Given the description of an element on the screen output the (x, y) to click on. 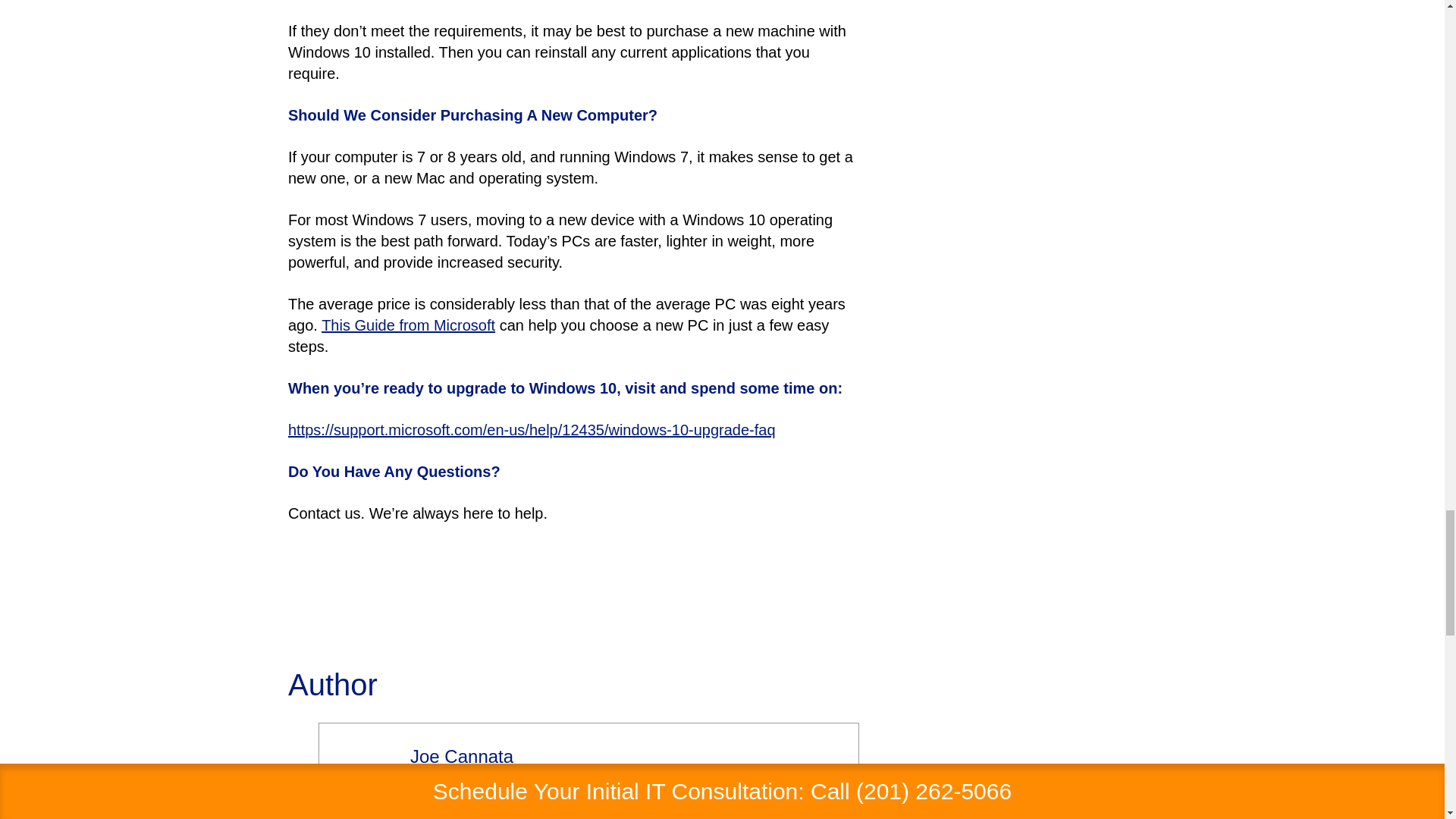
Joe Cannata (461, 756)
This Guide from Microsoft (408, 324)
Joe Cannata (461, 756)
